Given the description of an element on the screen output the (x, y) to click on. 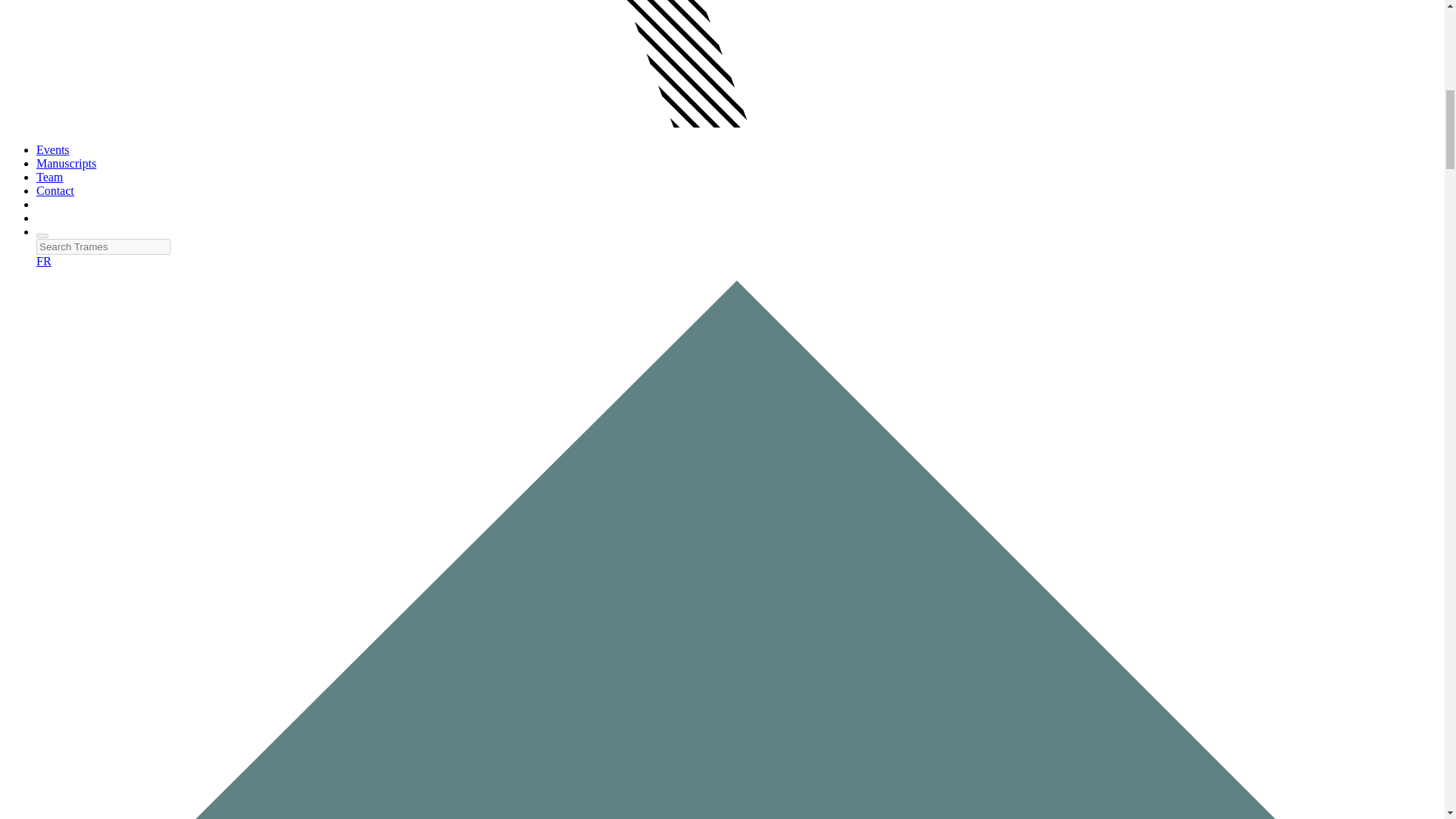
Manuscripts (66, 163)
Team (49, 176)
FR (43, 260)
Contact (55, 190)
Events (52, 149)
